Given the description of an element on the screen output the (x, y) to click on. 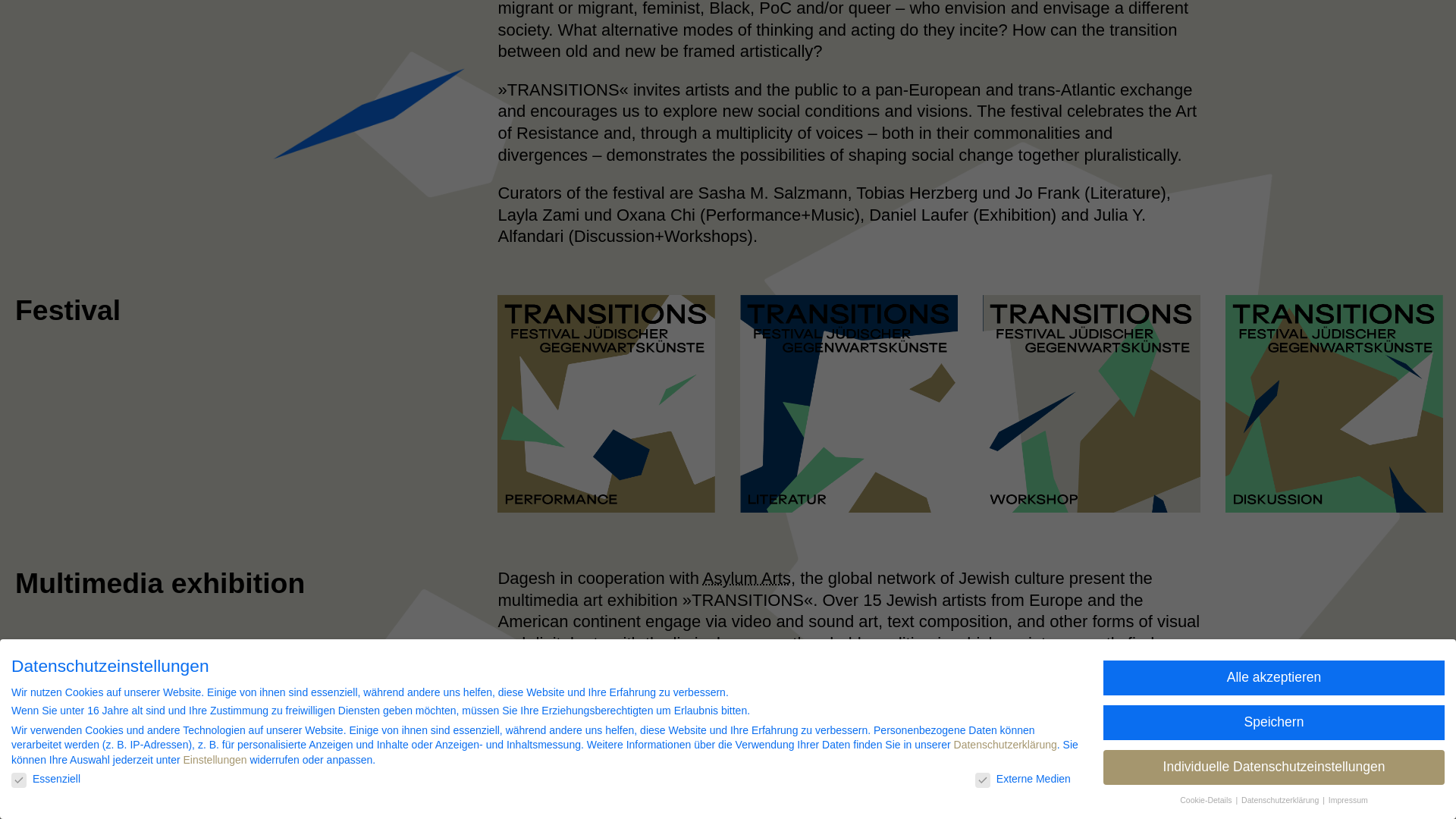
Multimedia exhibition (159, 582)
Festival (67, 309)
Asylum Arts (746, 578)
